Given the description of an element on the screen output the (x, y) to click on. 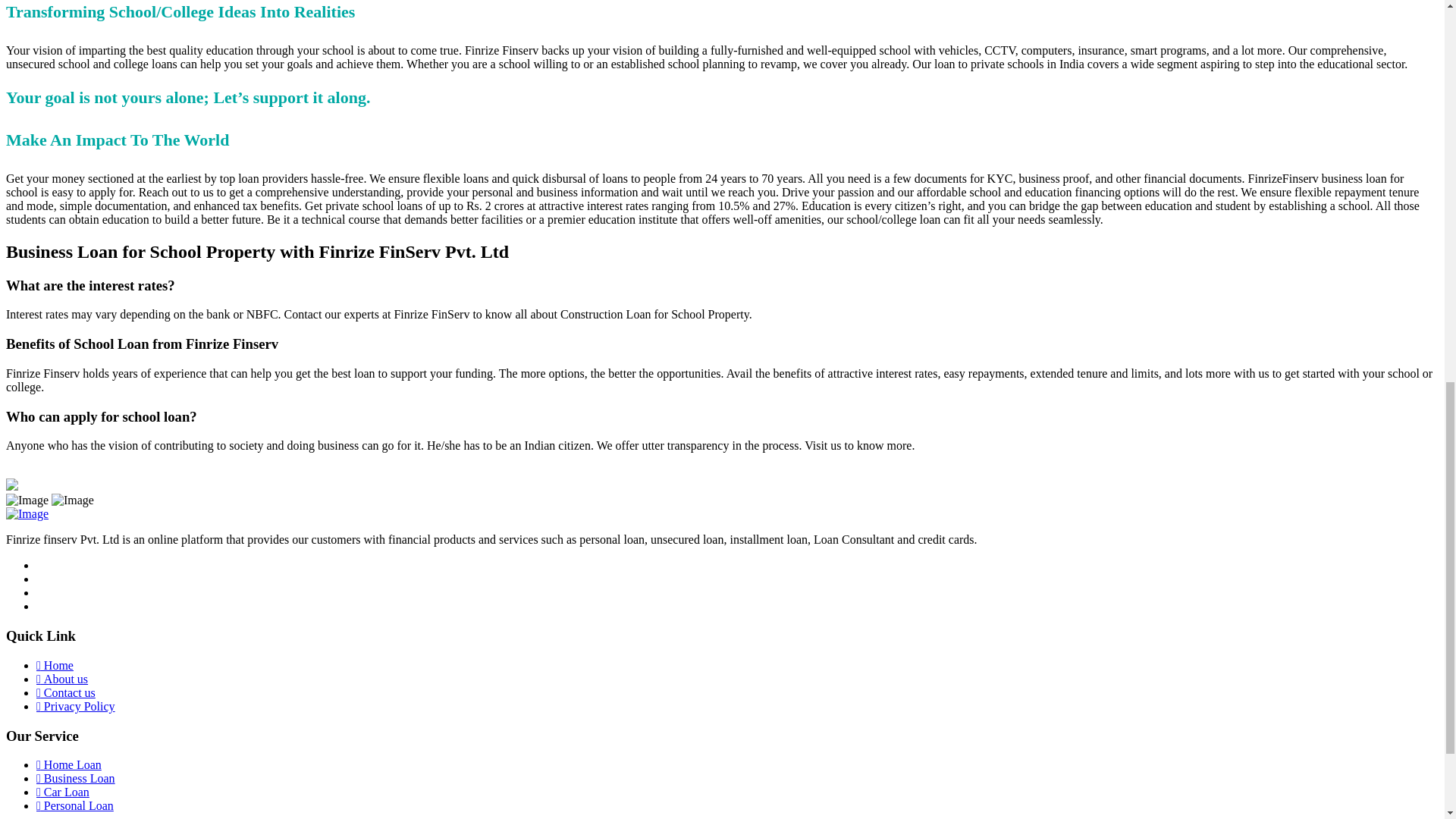
Contact us (66, 692)
About us (61, 678)
Home (55, 665)
